Given the description of an element on the screen output the (x, y) to click on. 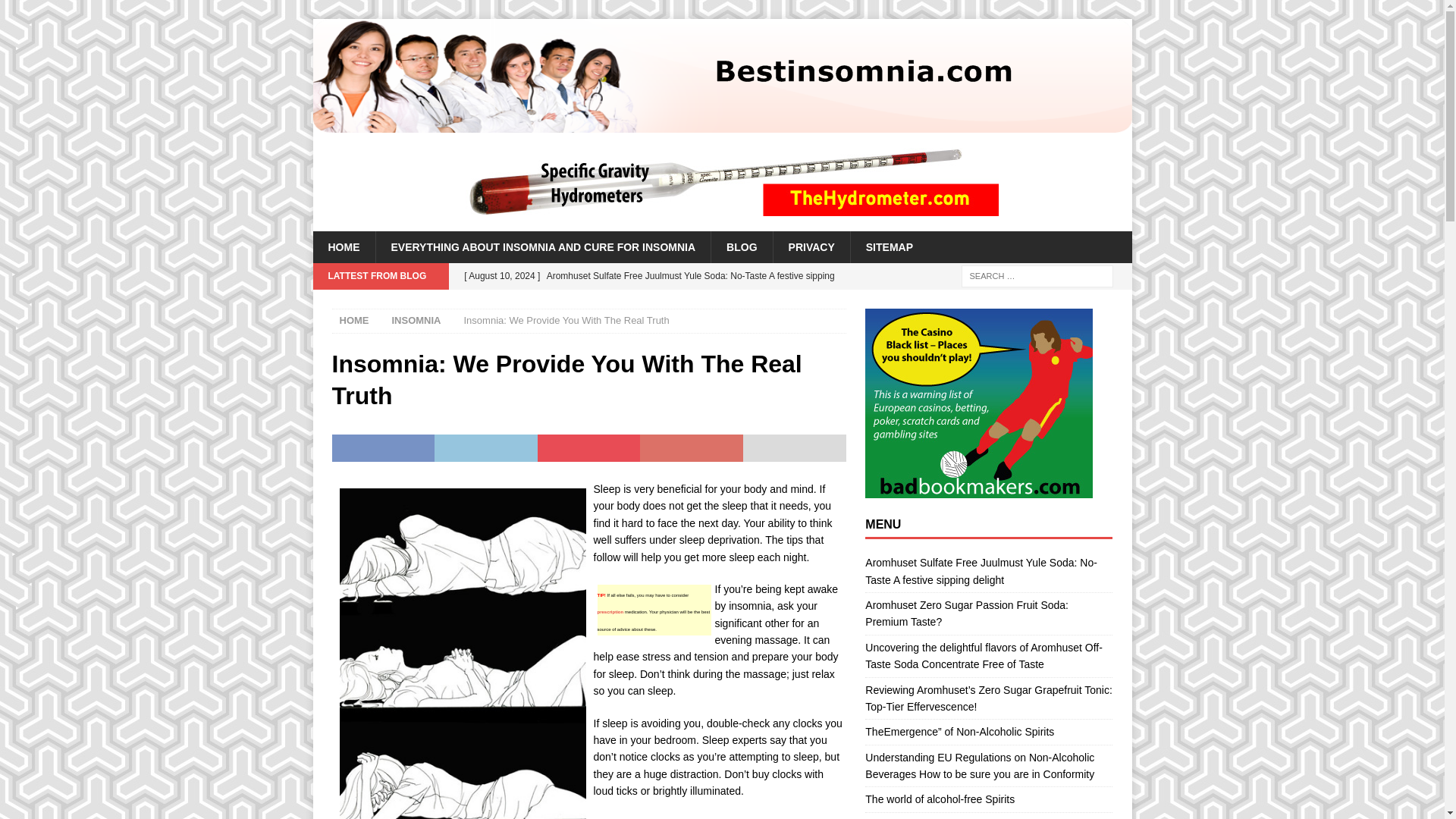
SITEMAP (889, 246)
BLOG (740, 246)
HOME (343, 246)
INSOMNIA (416, 319)
Search (56, 11)
prescription (610, 611)
HOME (354, 319)
bestinsomnia (722, 123)
Specific Gravity Hydrometers (721, 182)
